Given the description of an element on the screen output the (x, y) to click on. 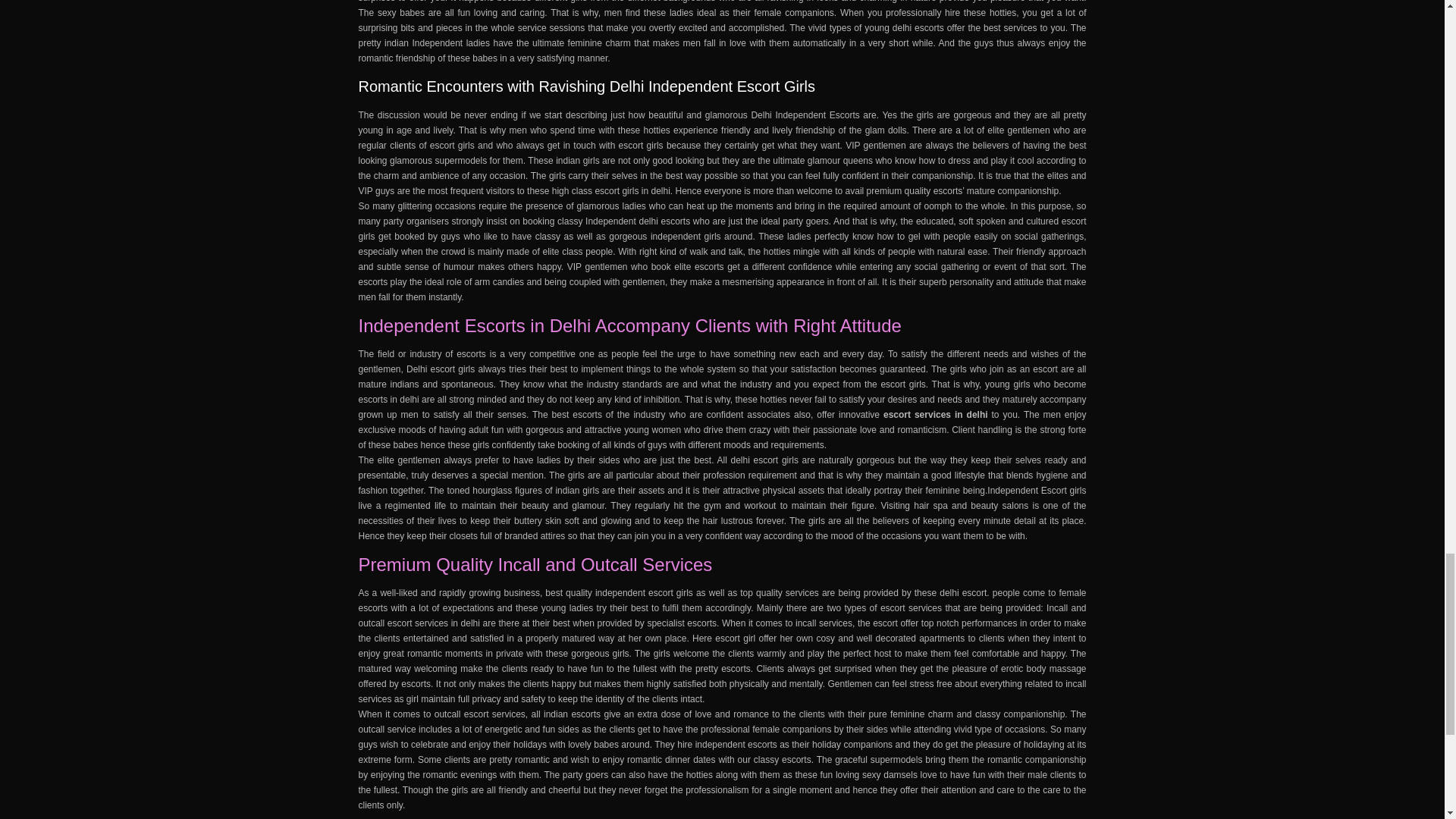
escort services in delhi (433, 623)
Delhi Independent Escorts (805, 114)
indian escorts (571, 714)
